Given the description of an element on the screen output the (x, y) to click on. 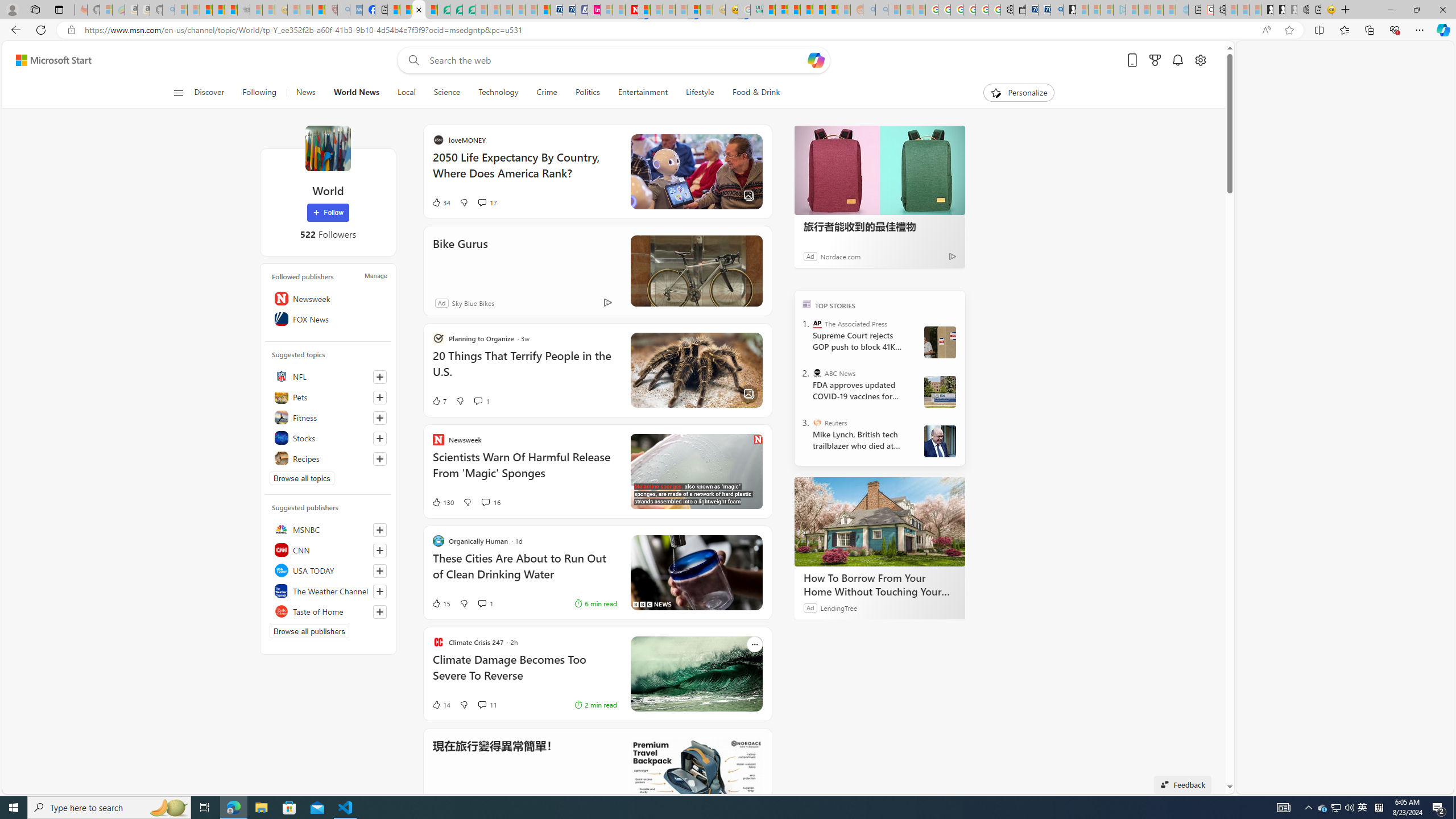
Bike Gurus (569, 259)
Fitness (327, 417)
LendingTree - Compare Lenders (443, 9)
